Given the description of an element on the screen output the (x, y) to click on. 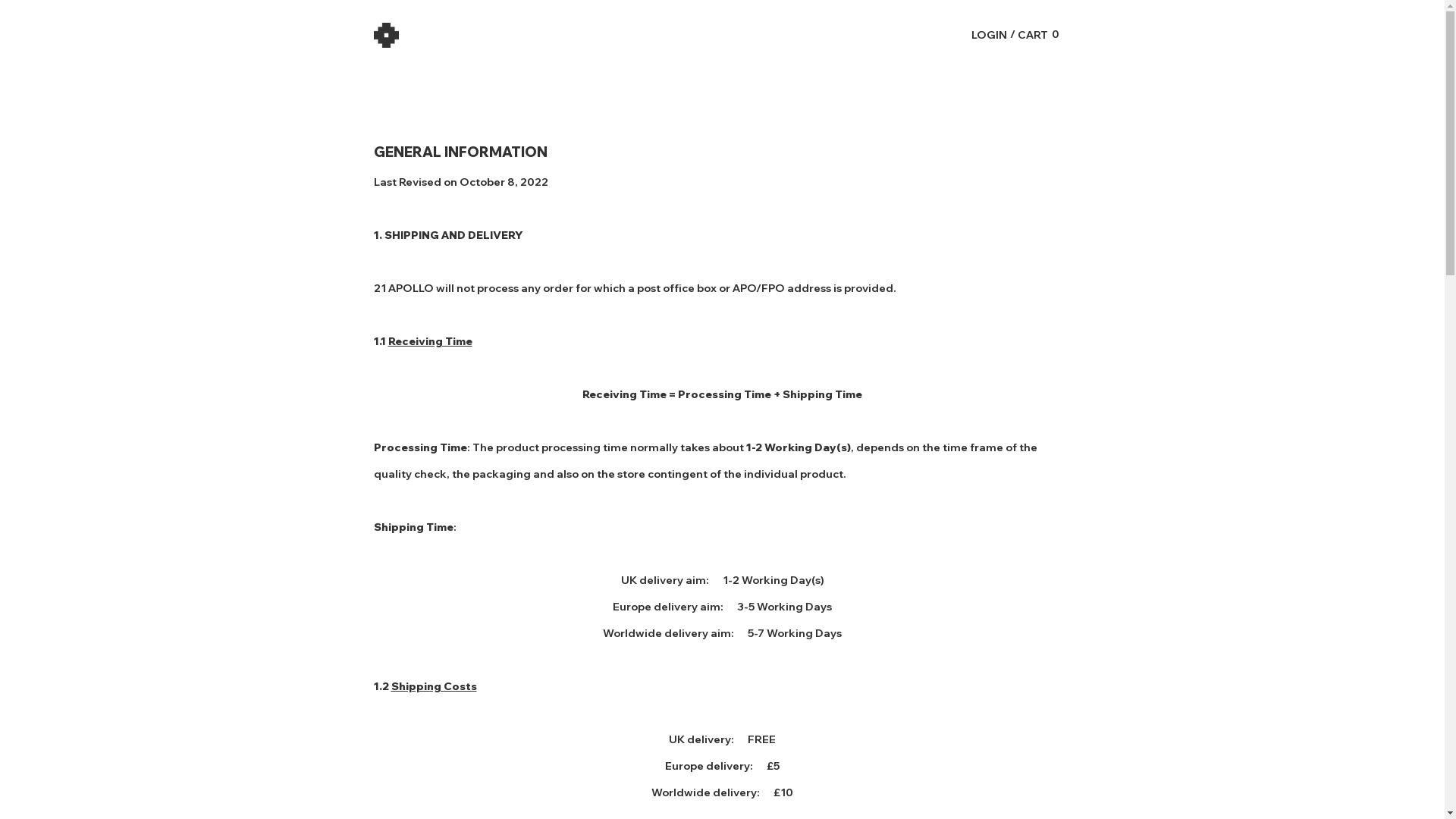
LOGIN Element type: text (988, 35)
0
CART Element type: text (1038, 34)
